Given the description of an element on the screen output the (x, y) to click on. 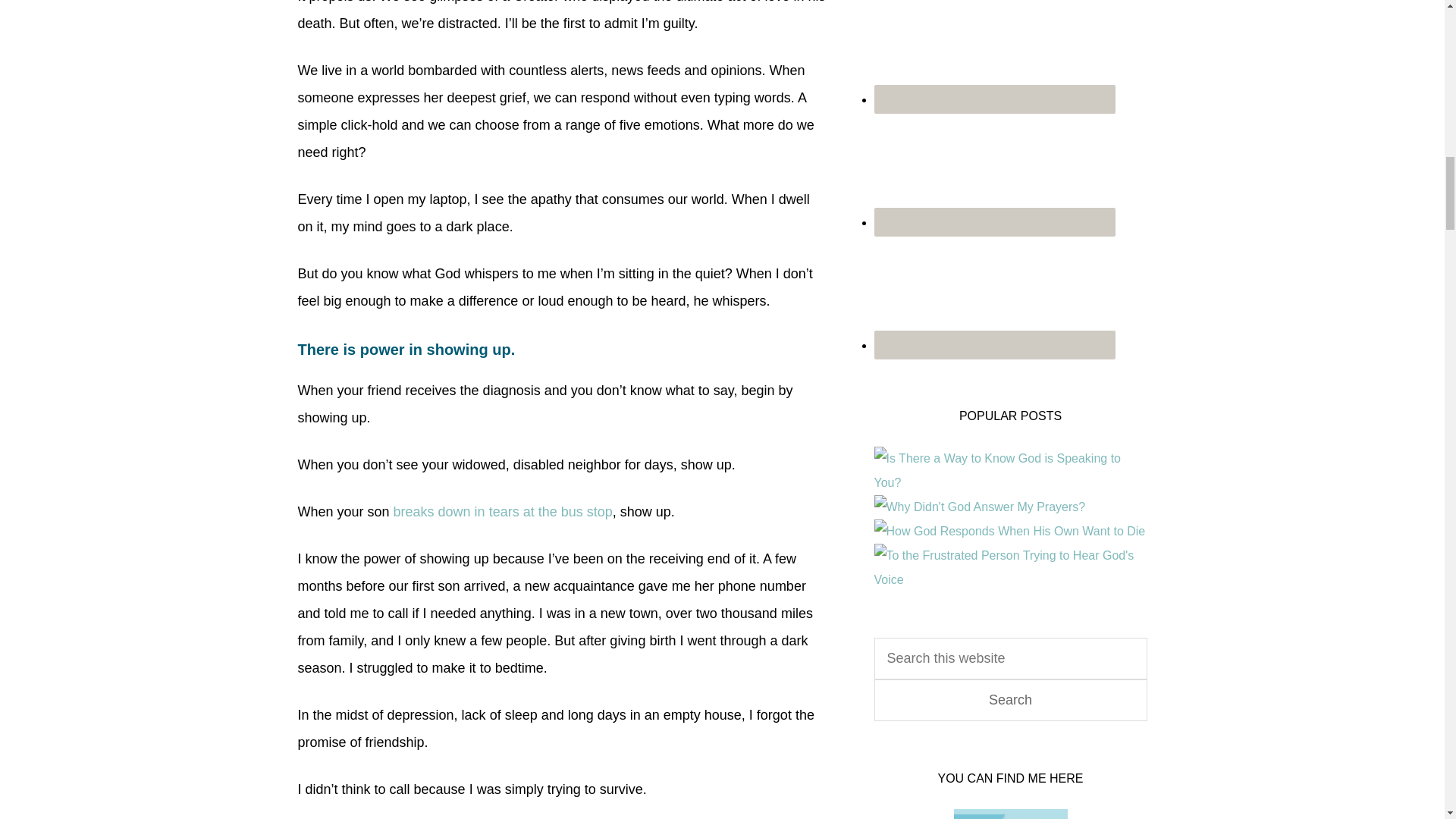
Twitter (994, 292)
Pinterest (994, 169)
Search (1010, 700)
Instagram (994, 99)
Pinterest (994, 222)
Search (1010, 700)
Twitter (994, 344)
Instagram (994, 52)
Is There a Way to Know God is Speaking to You? (1010, 481)
To the Frustrated Person Trying to Hear God's Voice (1010, 579)
